Given the description of an element on the screen output the (x, y) to click on. 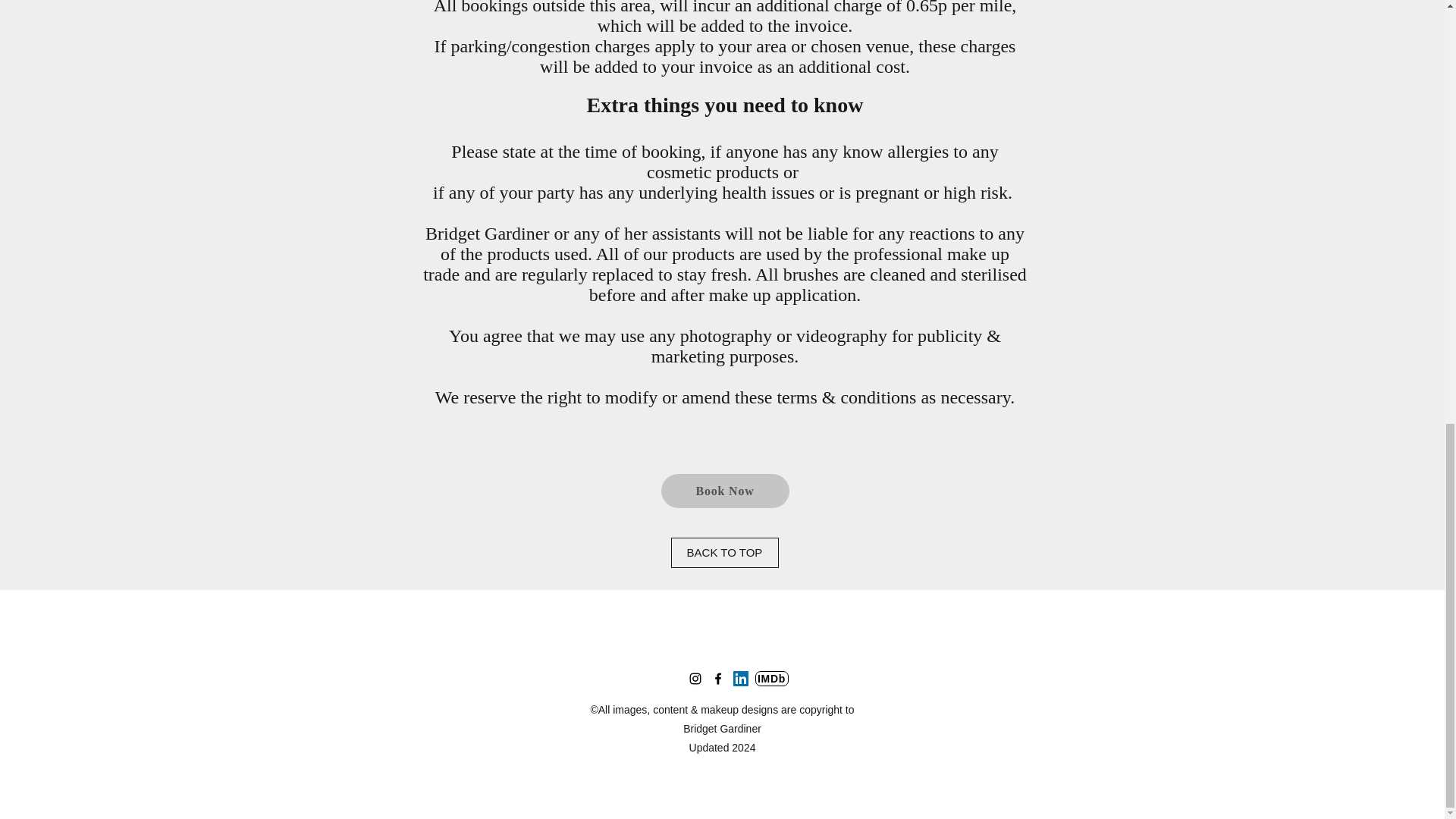
Book Now (725, 490)
BACK TO TOP (723, 552)
IMDb (772, 678)
